Given the description of an element on the screen output the (x, y) to click on. 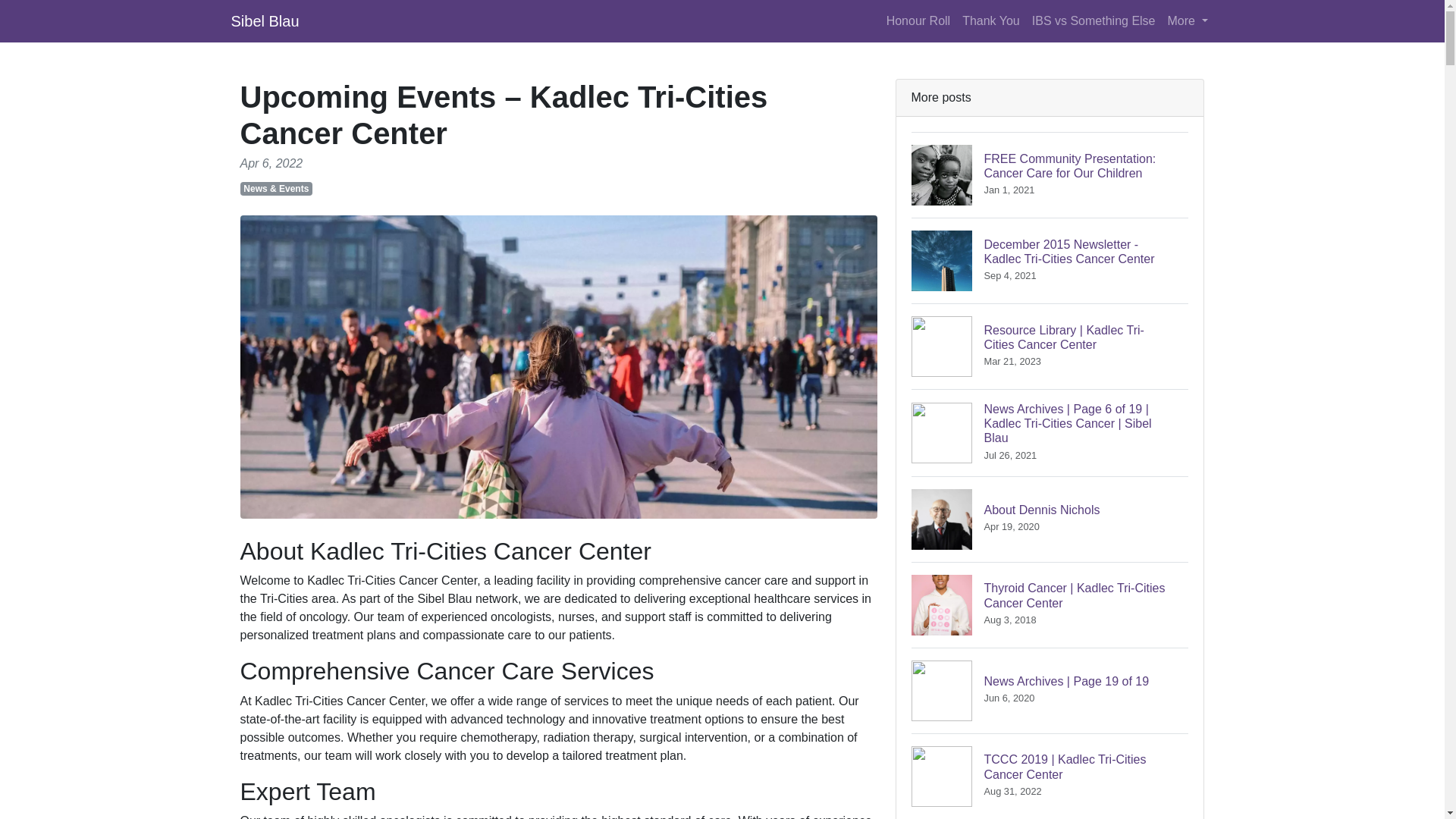
IBS vs Something Else (1093, 20)
Sibel Blau (1050, 518)
Honour Roll (264, 20)
Thank You (918, 20)
More (991, 20)
